Given the description of an element on the screen output the (x, y) to click on. 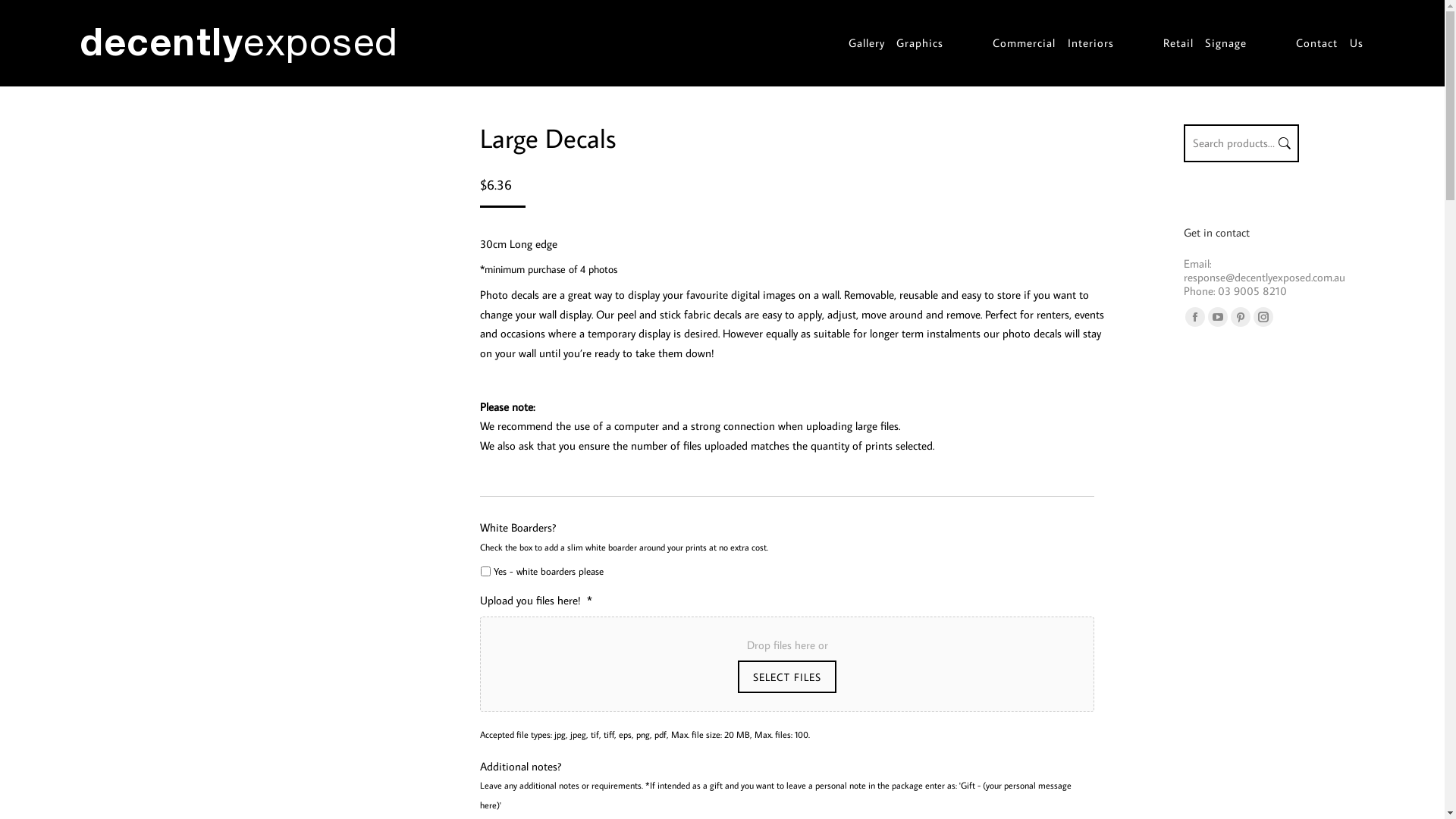
Gallery Graphics Element type: text (896, 43)
Pinterest page opens in new window Element type: hover (1239, 316)
Facebook page opens in new window Element type: hover (1194, 316)
YouTube page opens in new window Element type: hover (1216, 316)
decentlyexposed Element type: text (238, 40)
Instagram page opens in new window Element type: hover (1262, 316)
Contact Us Element type: text (1329, 43)
Commercial Interiors Element type: text (1052, 43)
SELECT FILES Element type: text (786, 676)
Retail Signage Element type: text (1205, 43)
Search Element type: text (1282, 143)
